Given the description of an element on the screen output the (x, y) to click on. 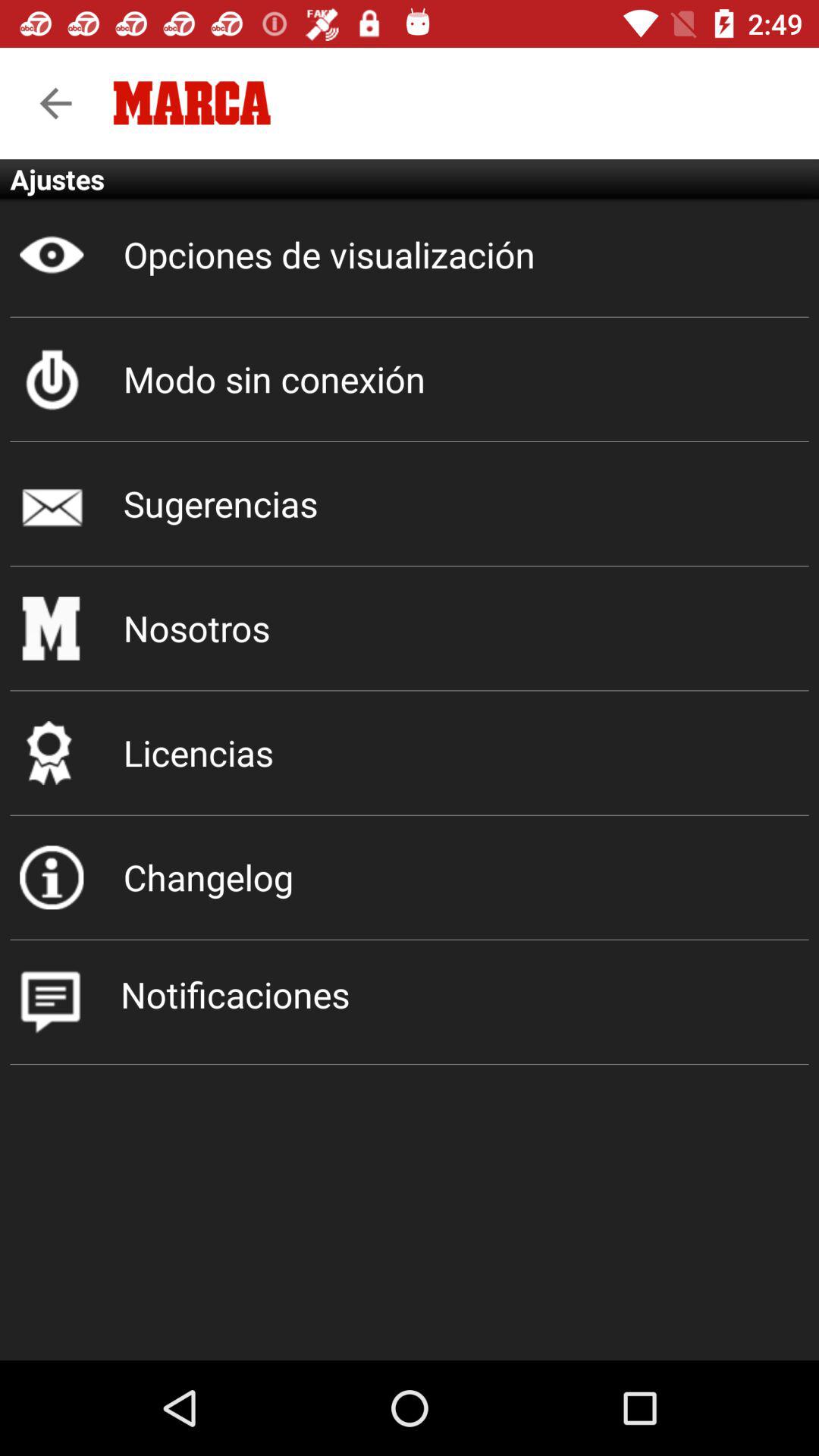
jump to changelog (409, 877)
